Given the description of an element on the screen output the (x, y) to click on. 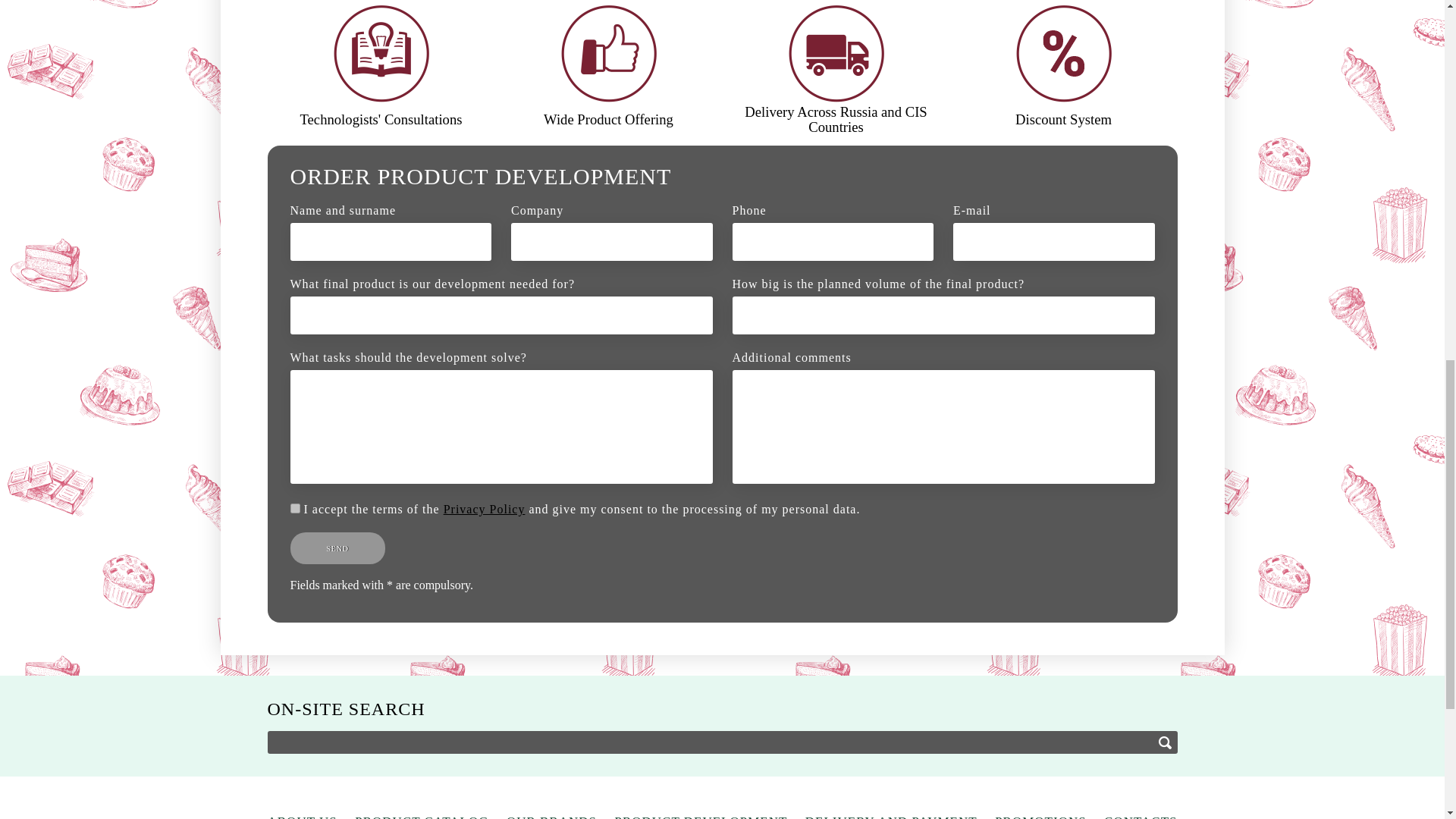
PRODUCT CATALOG (421, 816)
DELIVERY AND PAYMENT (890, 816)
PROMOTIONS (1040, 816)
PRODUCT DEVELOPMENT (700, 816)
OUR BRANDS (551, 816)
ABOUT US (301, 816)
on (294, 508)
Privacy Policy (484, 508)
CONTACTS (1139, 816)
SEND (336, 548)
